Given the description of an element on the screen output the (x, y) to click on. 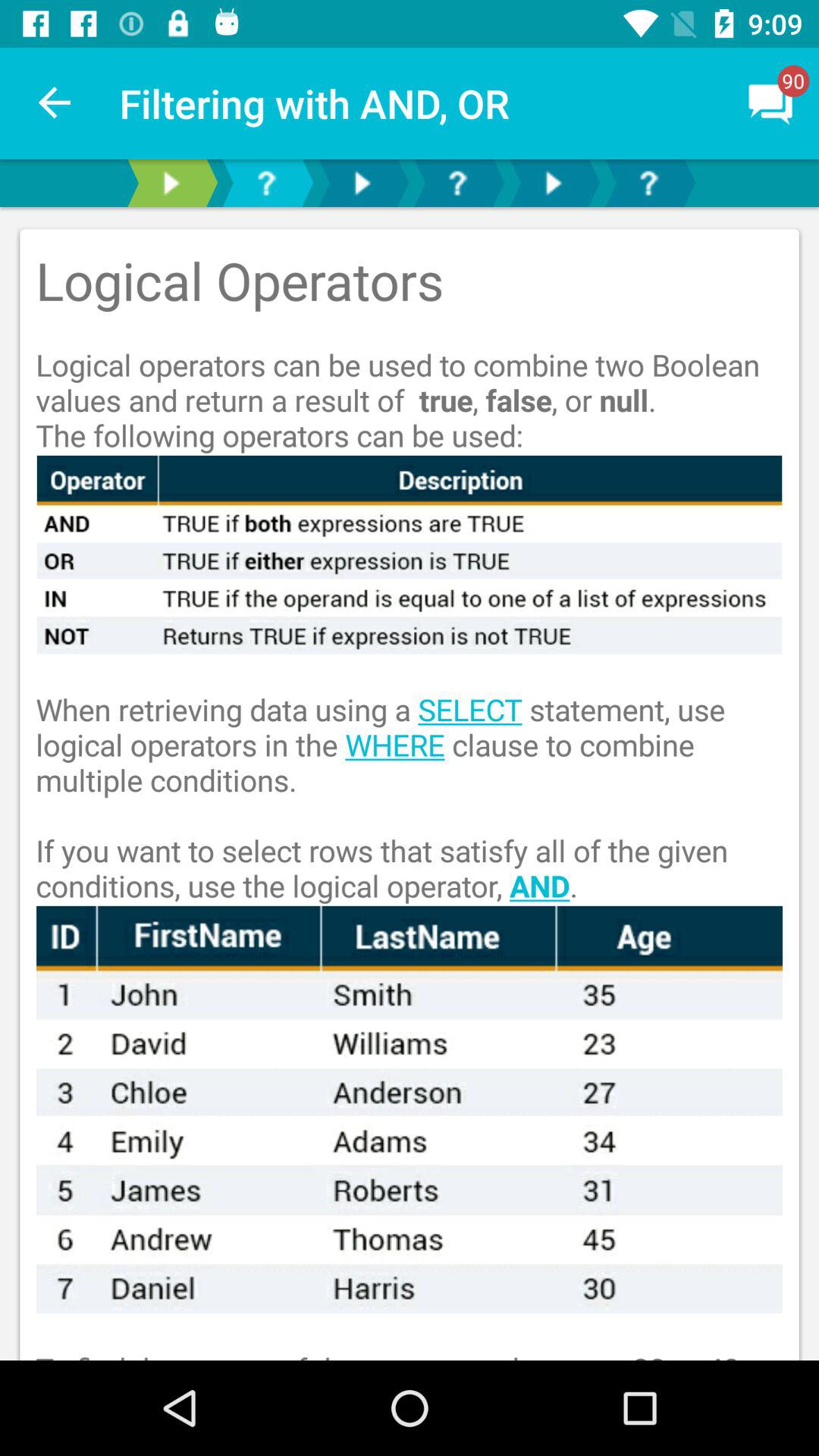
click for help (648, 183)
